Given the description of an element on the screen output the (x, y) to click on. 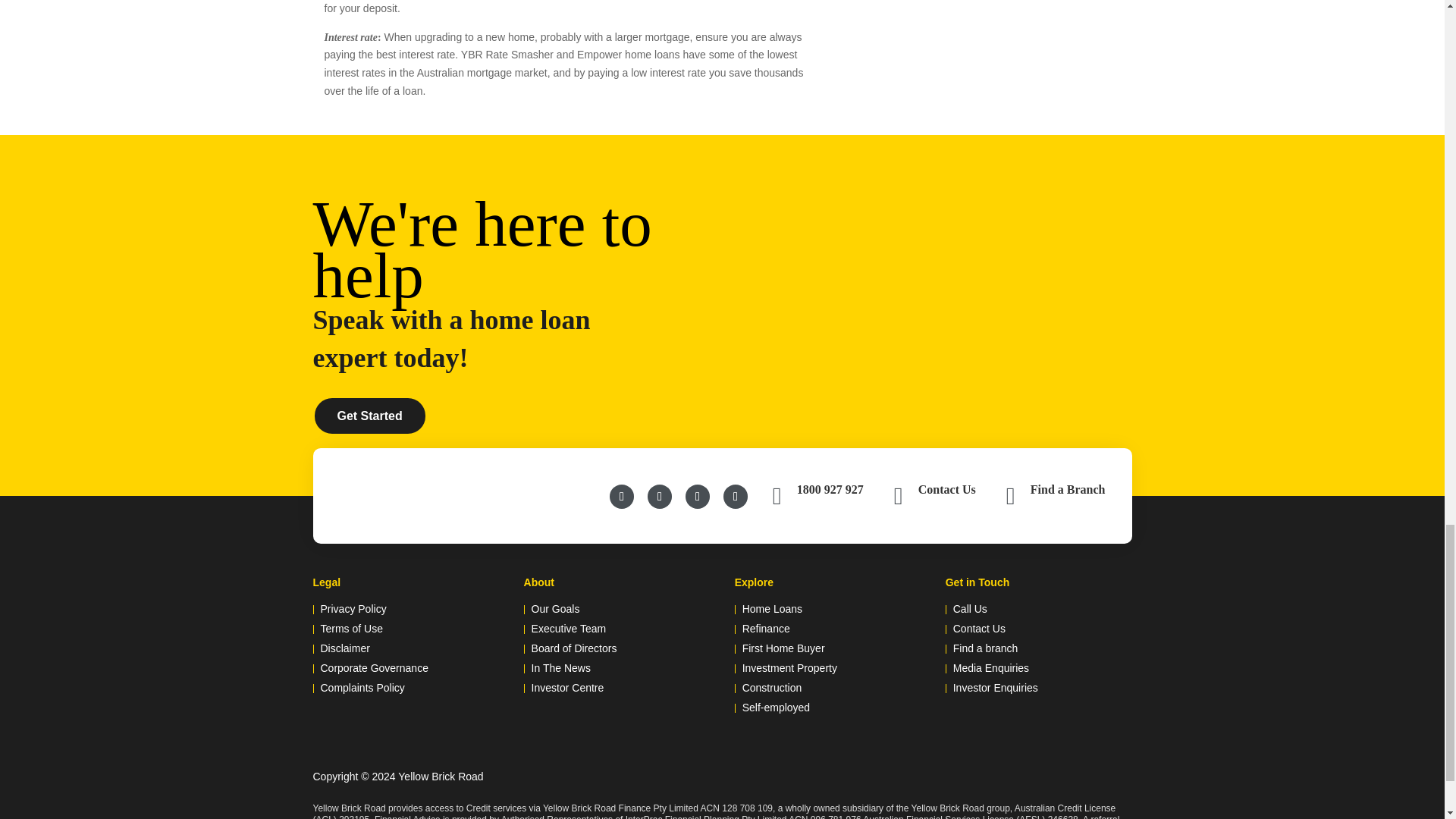
Follow on LinkedIn (659, 496)
Follow on Instagram (735, 496)
Follow on Youtube (697, 496)
Follow on Facebook (621, 496)
